Given the description of an element on the screen output the (x, y) to click on. 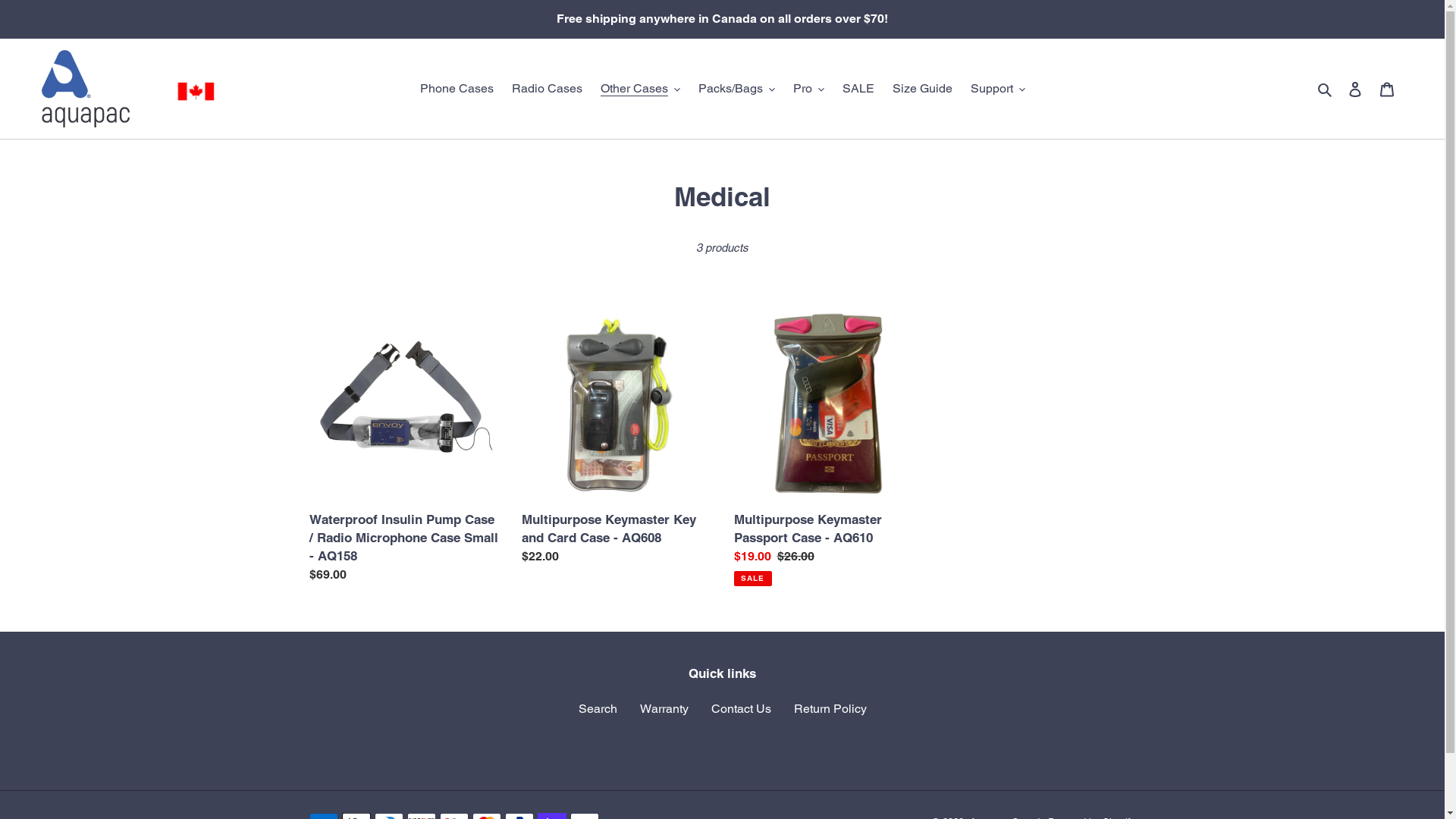
Pro Element type: text (808, 88)
Other Cases Element type: text (640, 88)
Warranty Element type: text (664, 708)
Cart Element type: text (1386, 88)
Multipurpose Keymaster Key and Card Case - AQ608 Element type: text (616, 440)
Packs/Bags Element type: text (735, 88)
Log in Element type: text (1355, 88)
Return Policy Element type: text (829, 708)
Radio Cases Element type: text (546, 88)
Multipurpose Keymaster Passport Case - AQ610 Element type: text (828, 448)
Support Element type: text (997, 88)
Search Element type: text (596, 708)
Contact Us Element type: text (741, 708)
Size Guide Element type: text (921, 88)
Phone Cases Element type: text (456, 88)
Search Element type: text (1325, 88)
SALE Element type: text (857, 88)
